Given the description of an element on the screen output the (x, y) to click on. 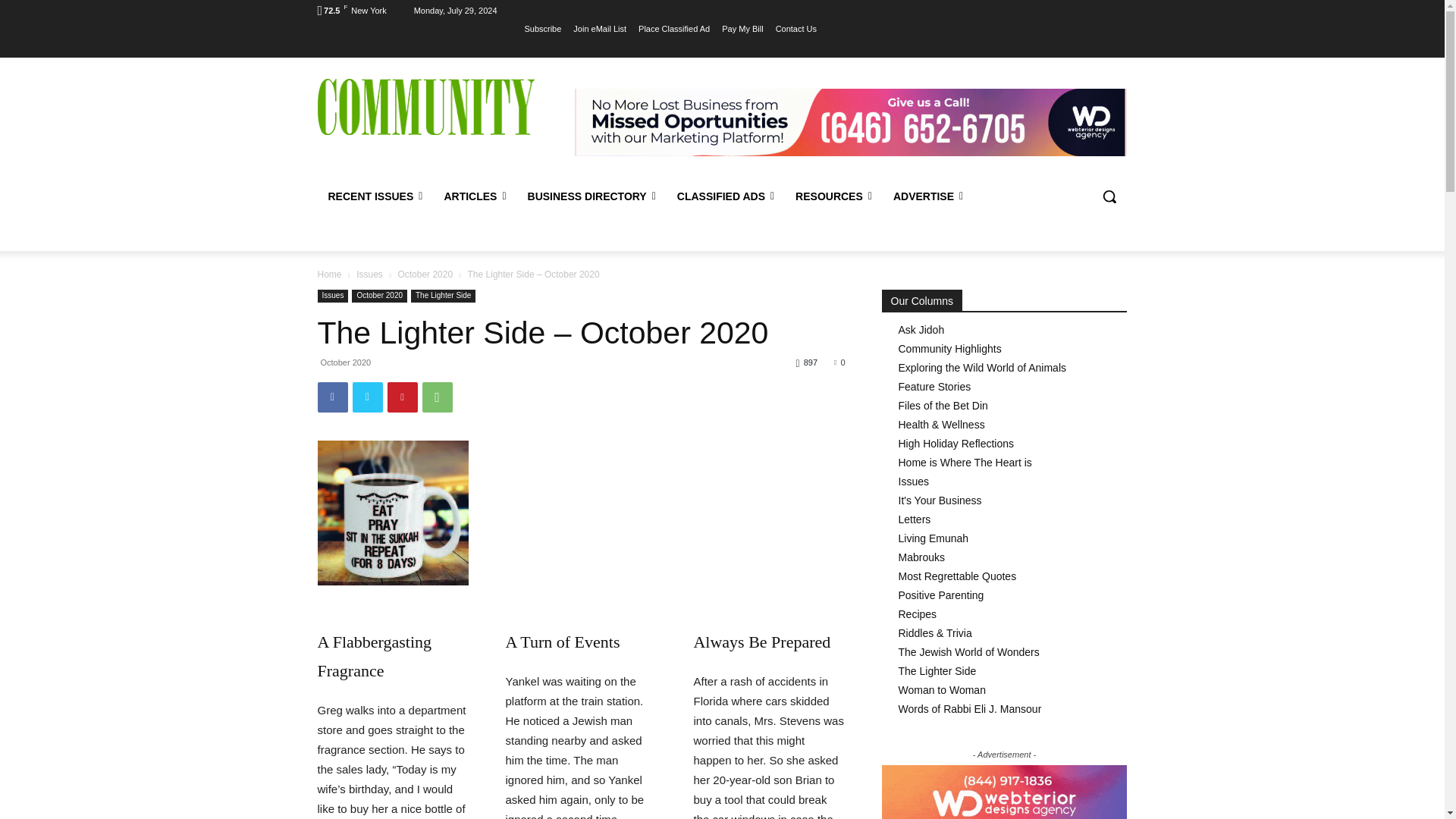
Facebook (332, 397)
Twitter (366, 397)
page0068 (392, 512)
View all posts in October 2020 (424, 274)
Pinterest (401, 397)
WhatsApp (436, 397)
View all posts in Issues (369, 274)
